Given the description of an element on the screen output the (x, y) to click on. 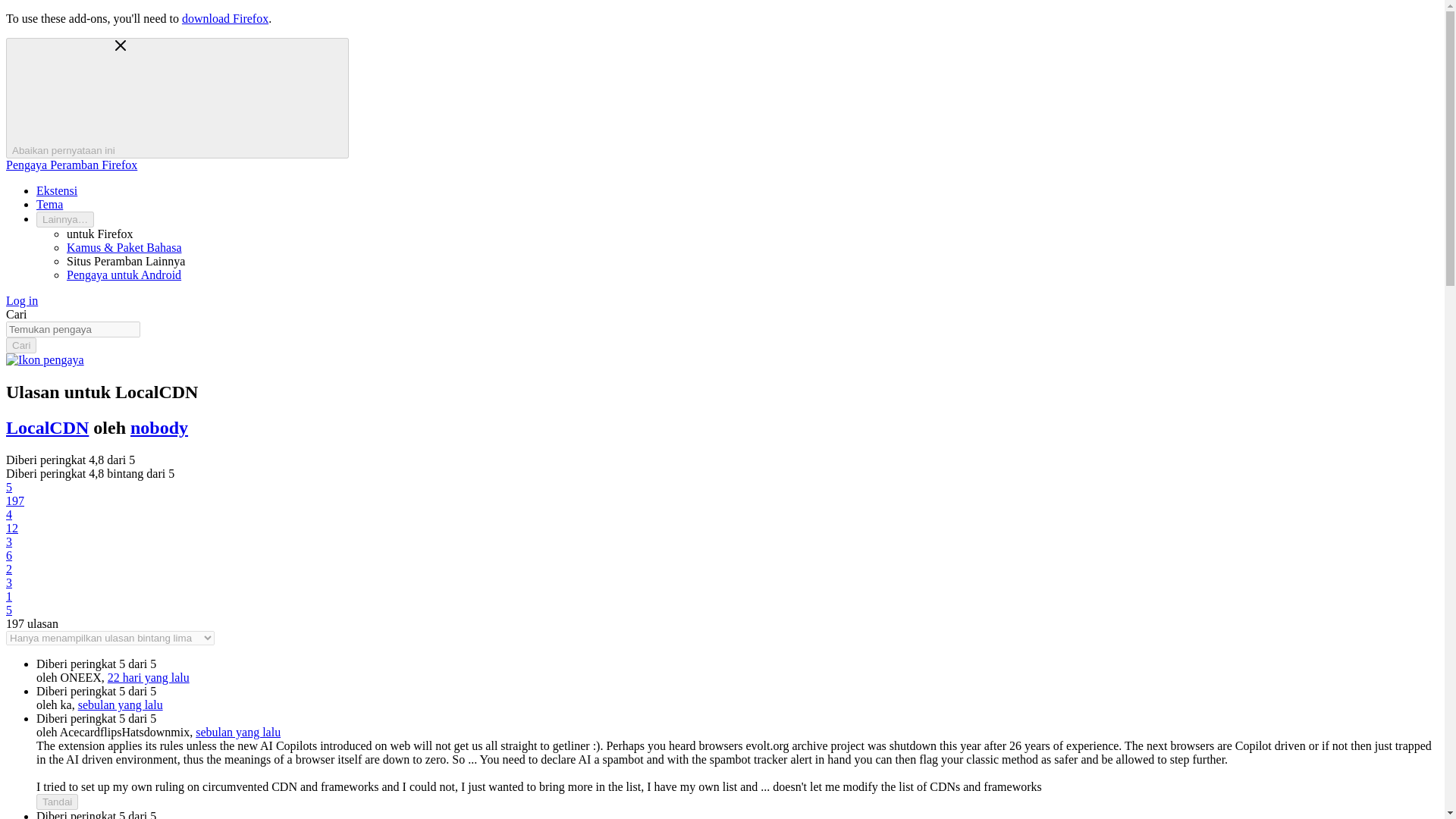
LocalCDN (46, 427)
Pengaya untuk Android (123, 274)
nobody (159, 427)
Tema (49, 204)
Tandai (57, 801)
download Firefox (224, 18)
10 Agt 2024 pukul 13.49 (148, 676)
Log in (21, 300)
Pengaya Peramban Firefox (70, 164)
sebulan yang lalu (238, 731)
